Given the description of an element on the screen output the (x, y) to click on. 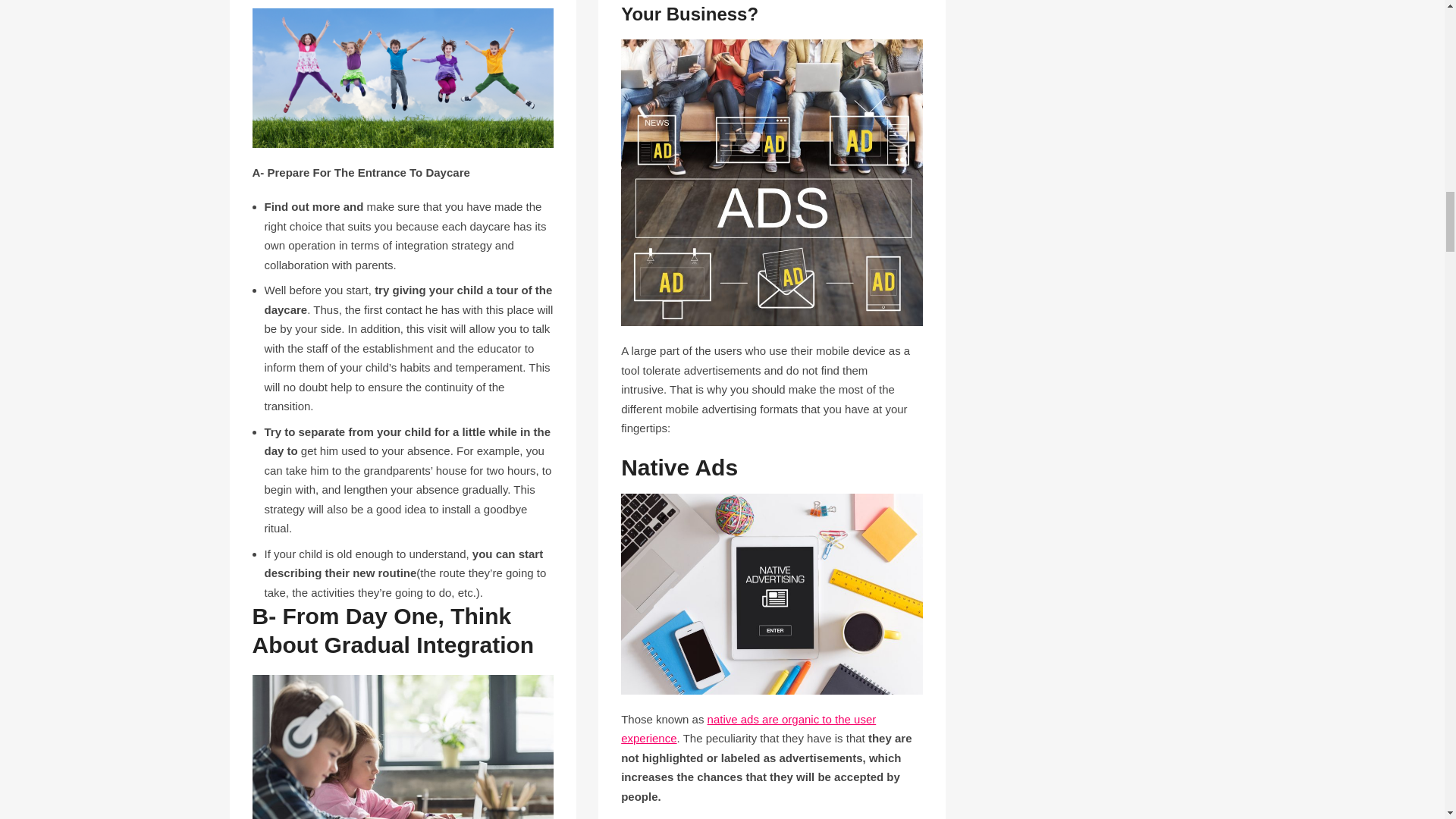
native ads are organic to the user experience (748, 728)
